Given the description of an element on the screen output the (x, y) to click on. 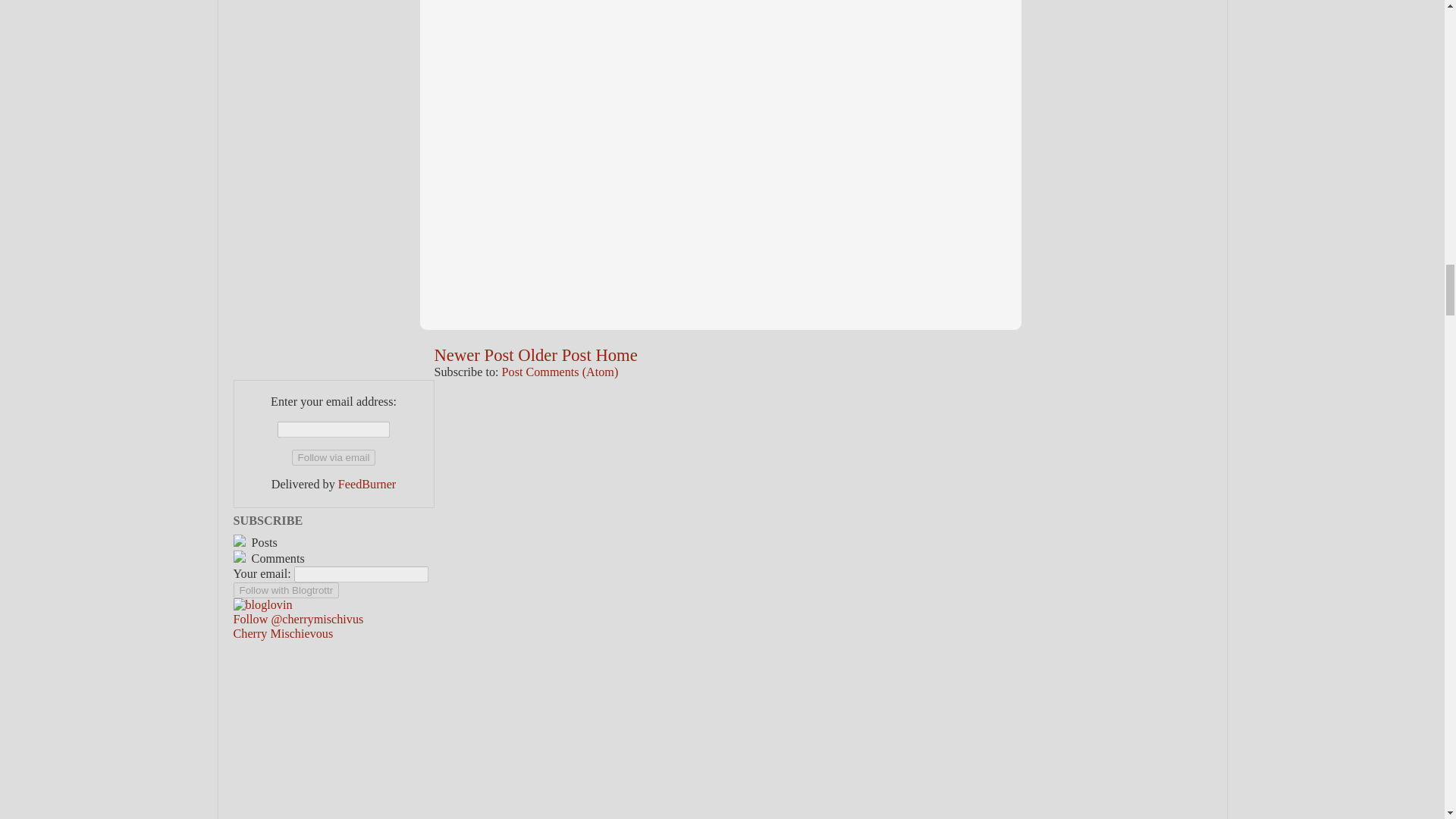
Follow with Blogtrottr (285, 590)
Cherry Mischievous on Bloglovin (262, 604)
Older Post (554, 354)
Newer Post (473, 354)
Follow via email (333, 457)
